Given the description of an element on the screen output the (x, y) to click on. 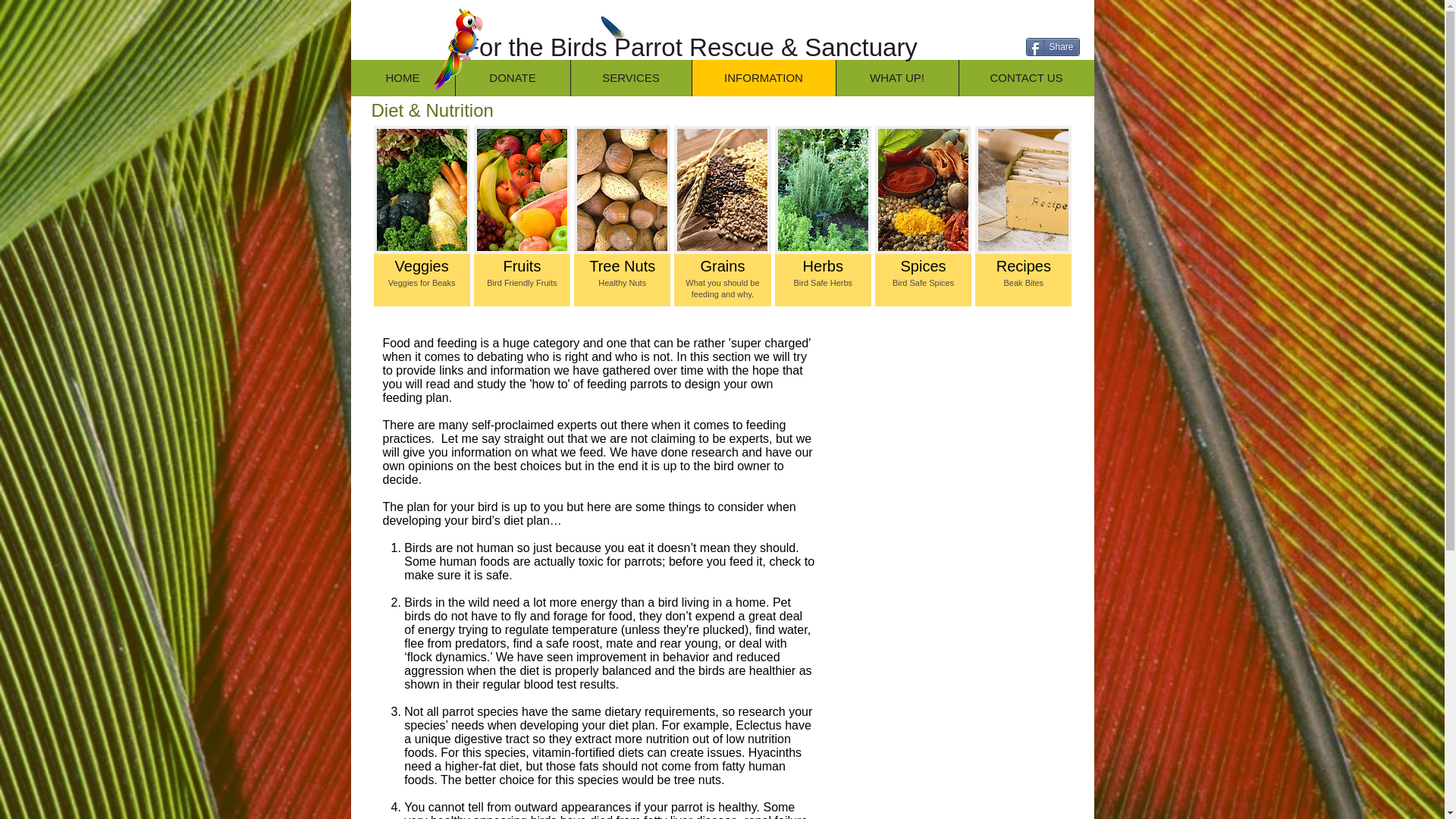
CONTACT US (1026, 77)
SERVICES (630, 77)
INFORMATION (763, 77)
DONATE (512, 77)
Share (1051, 46)
Share (1051, 46)
HOME (402, 77)
WHAT UP! (896, 77)
